Given the description of an element on the screen output the (x, y) to click on. 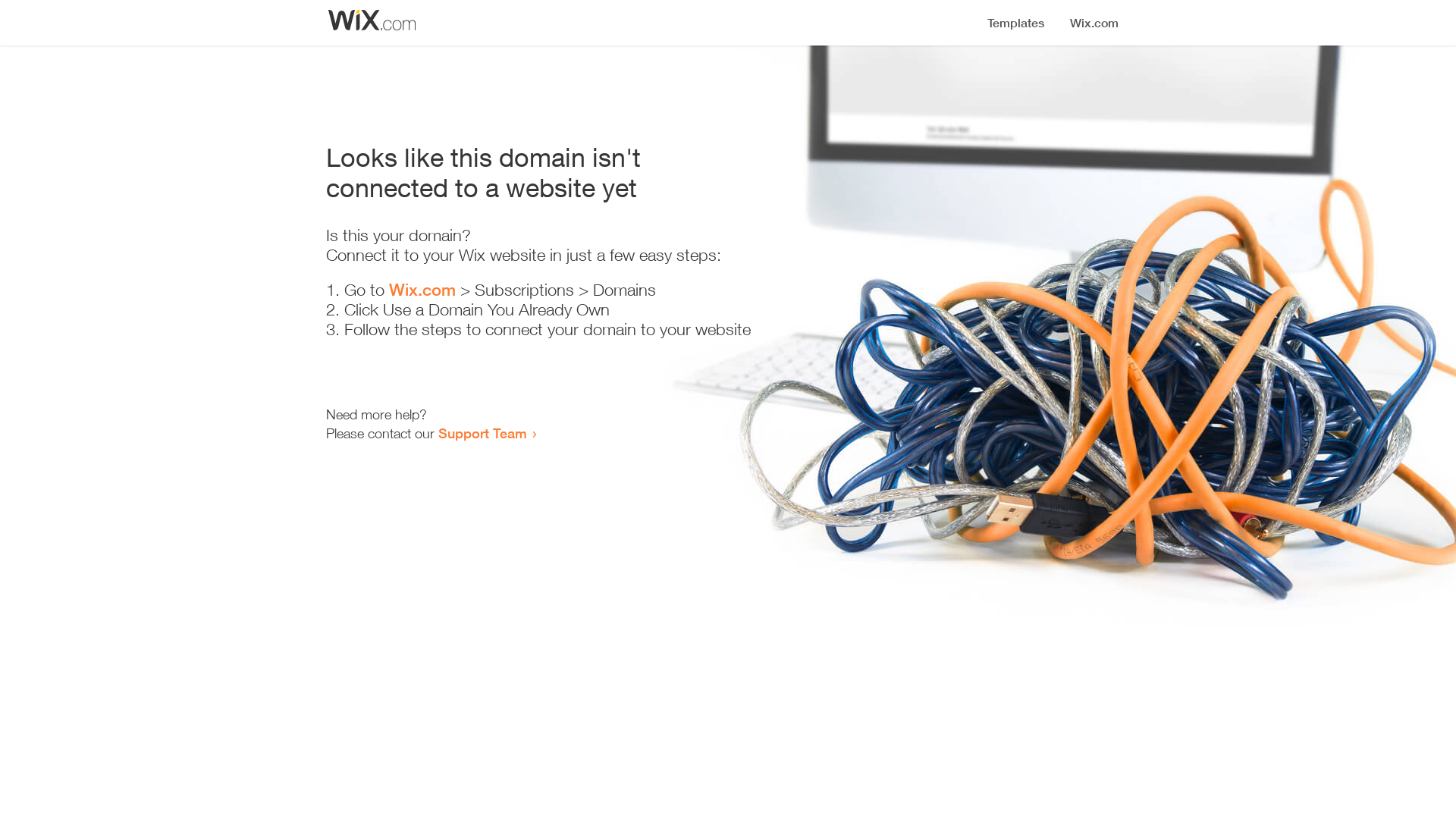
Support Team Element type: text (482, 432)
Wix.com Element type: text (422, 289)
